Given the description of an element on the screen output the (x, y) to click on. 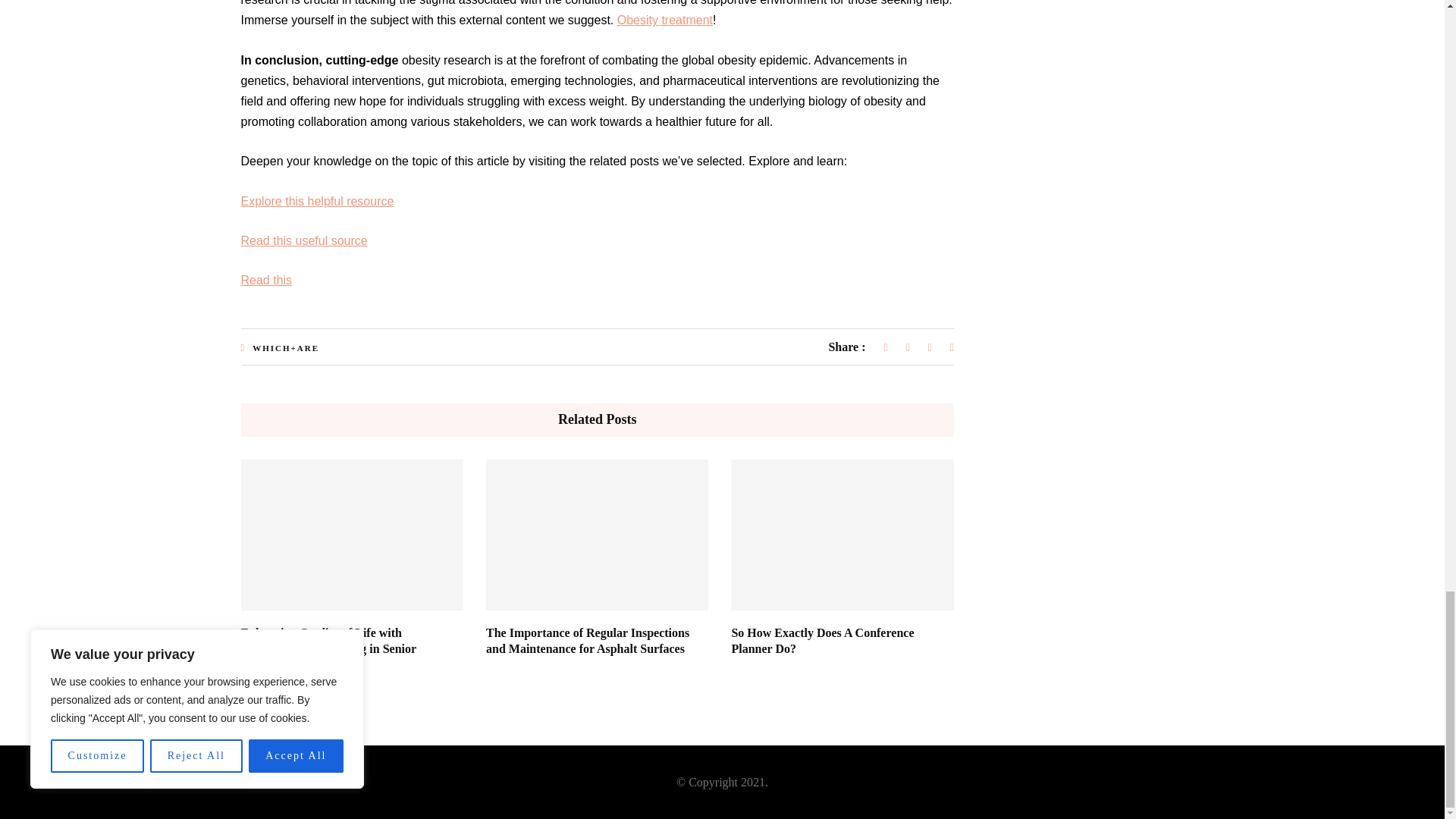
Read this useful source (304, 240)
So How Exactly Does A Conference Planner Do? (822, 640)
Obesity treatment (665, 19)
Explore this helpful resource (317, 201)
Read this (266, 279)
